Given the description of an element on the screen output the (x, y) to click on. 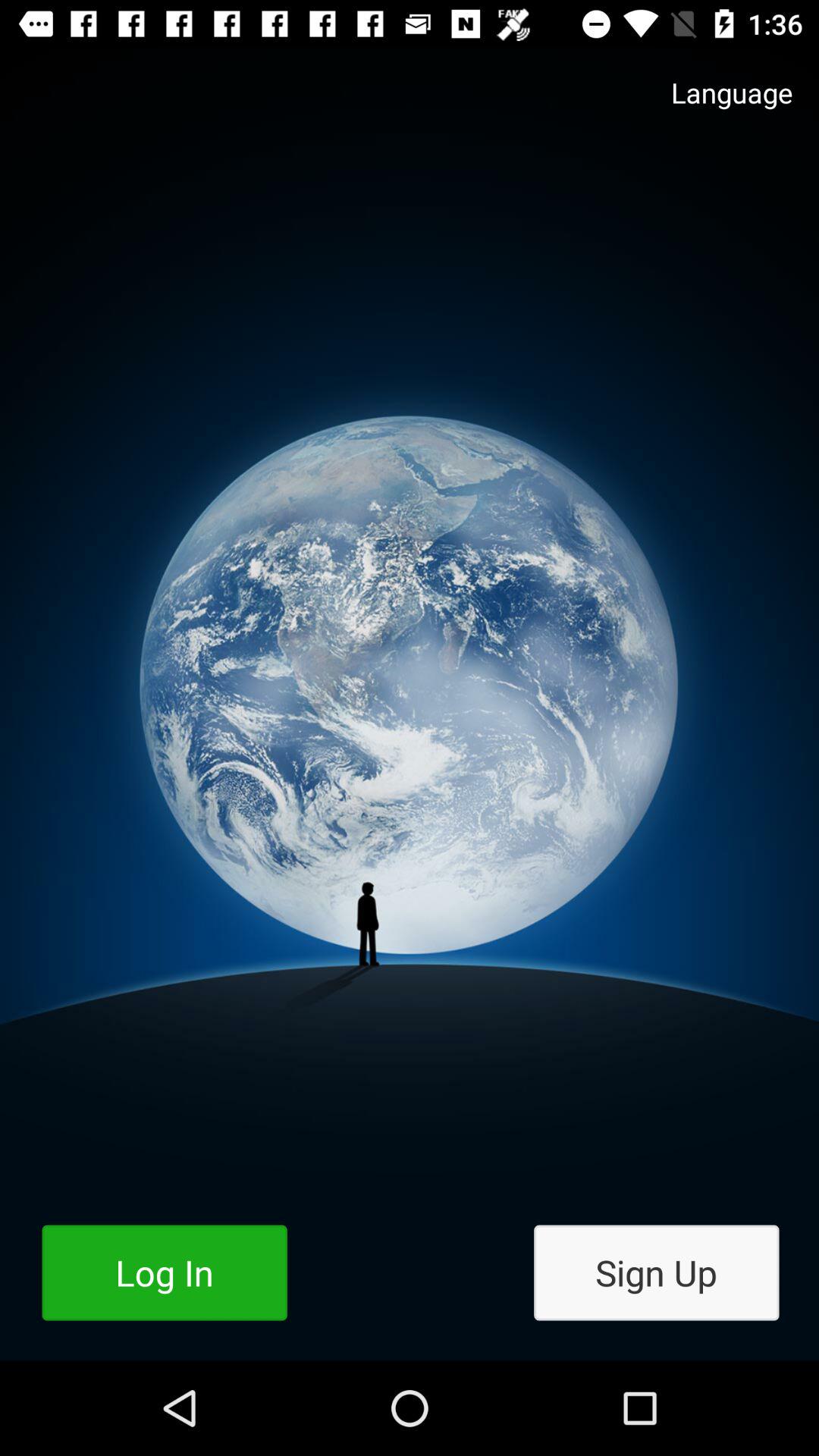
turn off app at the top right corner (716, 107)
